Given the description of an element on the screen output the (x, y) to click on. 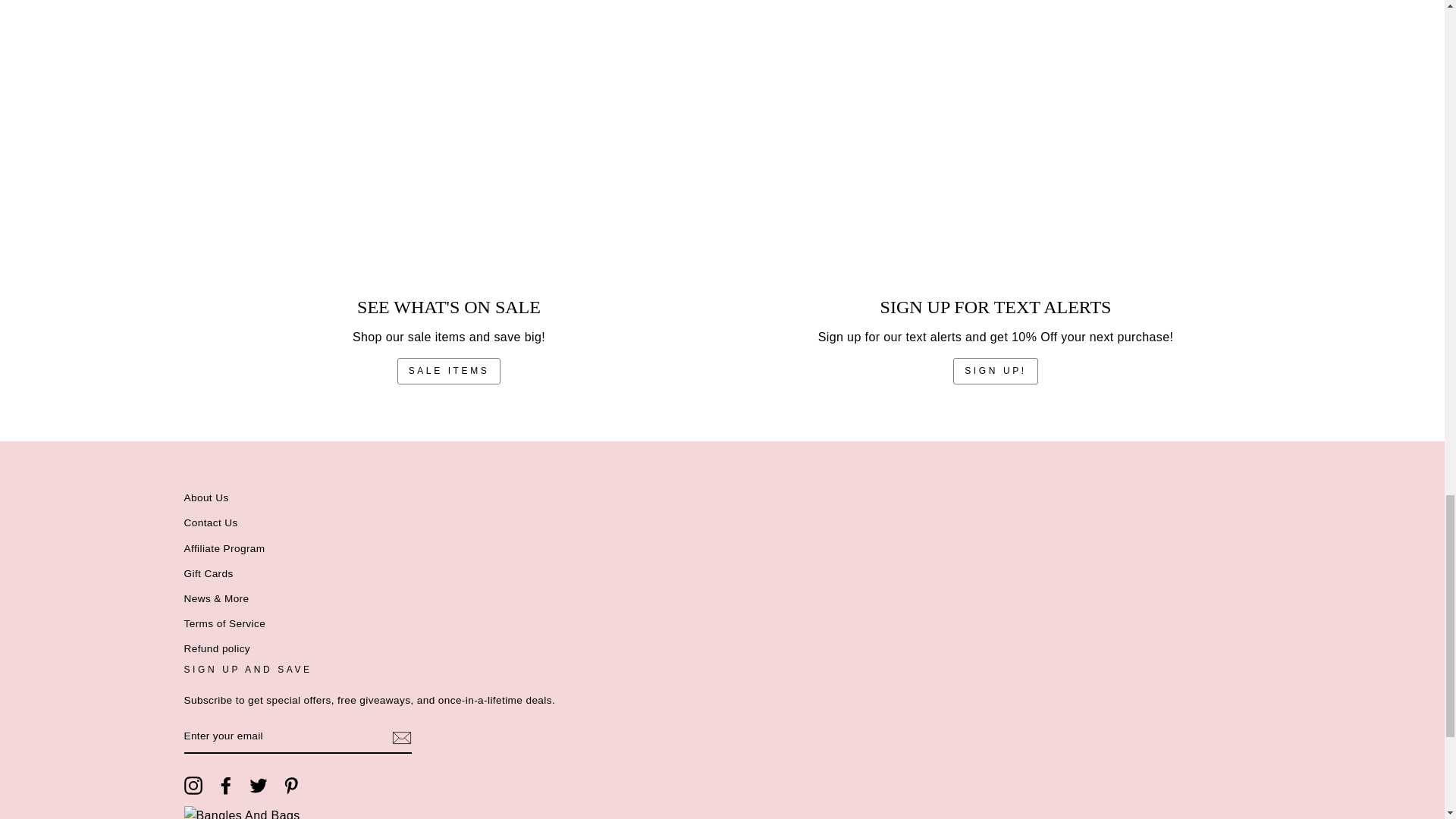
Bangles And Bags on Twitter (257, 785)
Bangles And Bags on Facebook (225, 785)
Bangles And Bags on Pinterest (290, 785)
Bangles And Bags on Instagram (192, 785)
